Given the description of an element on the screen output the (x, y) to click on. 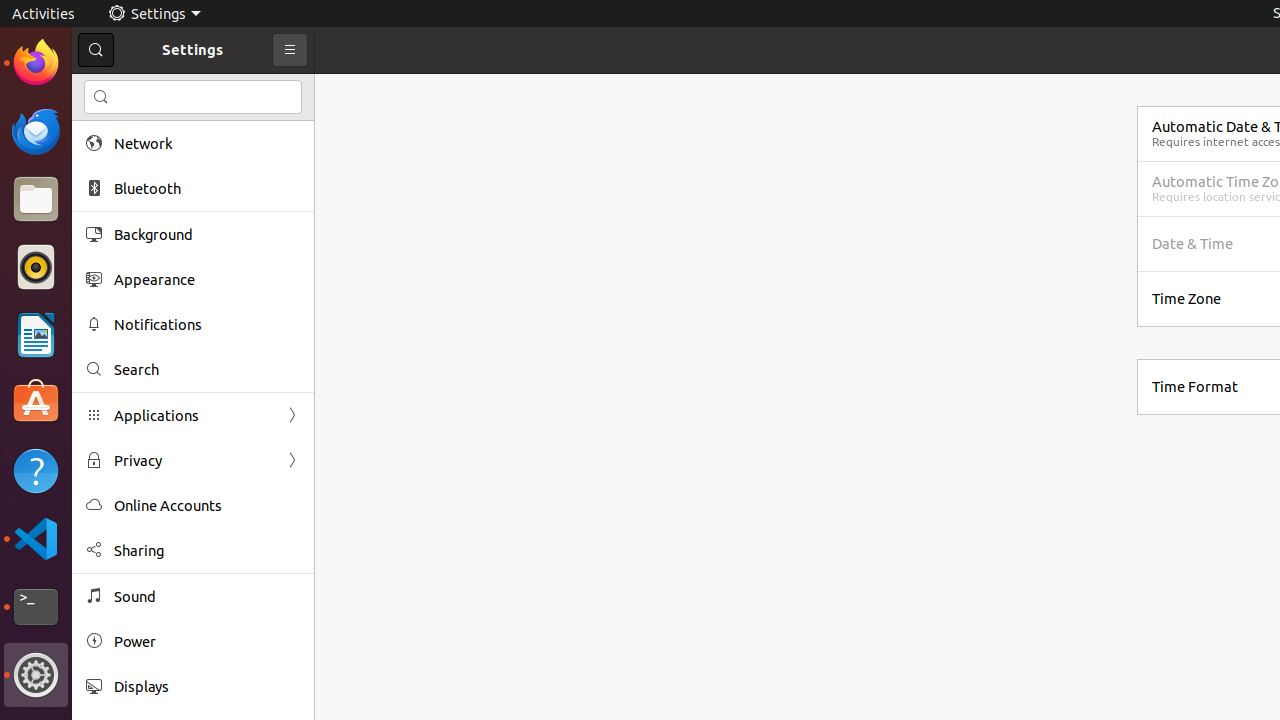
Displays Element type: label (207, 686)
Search Element type: label (207, 369)
Search Element type: text (193, 97)
Privacy Element type: label (193, 460)
